Given the description of an element on the screen output the (x, y) to click on. 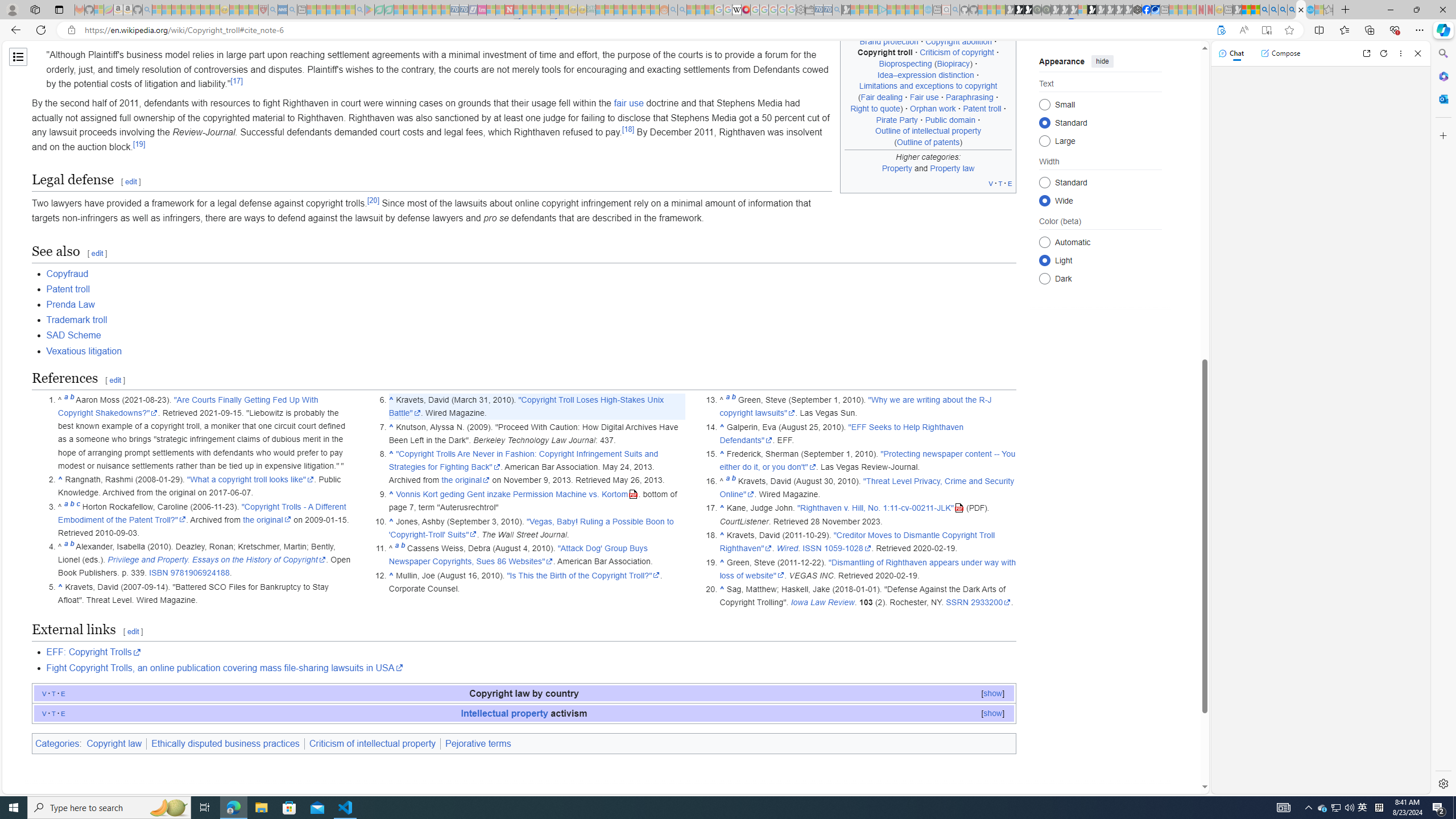
Trusted Community Engagement and Contributions | Guidelines (518, 9)
New tab - Sleeping (1227, 9)
v (44, 712)
"Why we are writing about the R-J copyright lawsuits" (855, 406)
New Report Confirms 2023 Was Record Hot | Watch - Sleeping (195, 9)
Right to quote (874, 108)
